Given the description of an element on the screen output the (x, y) to click on. 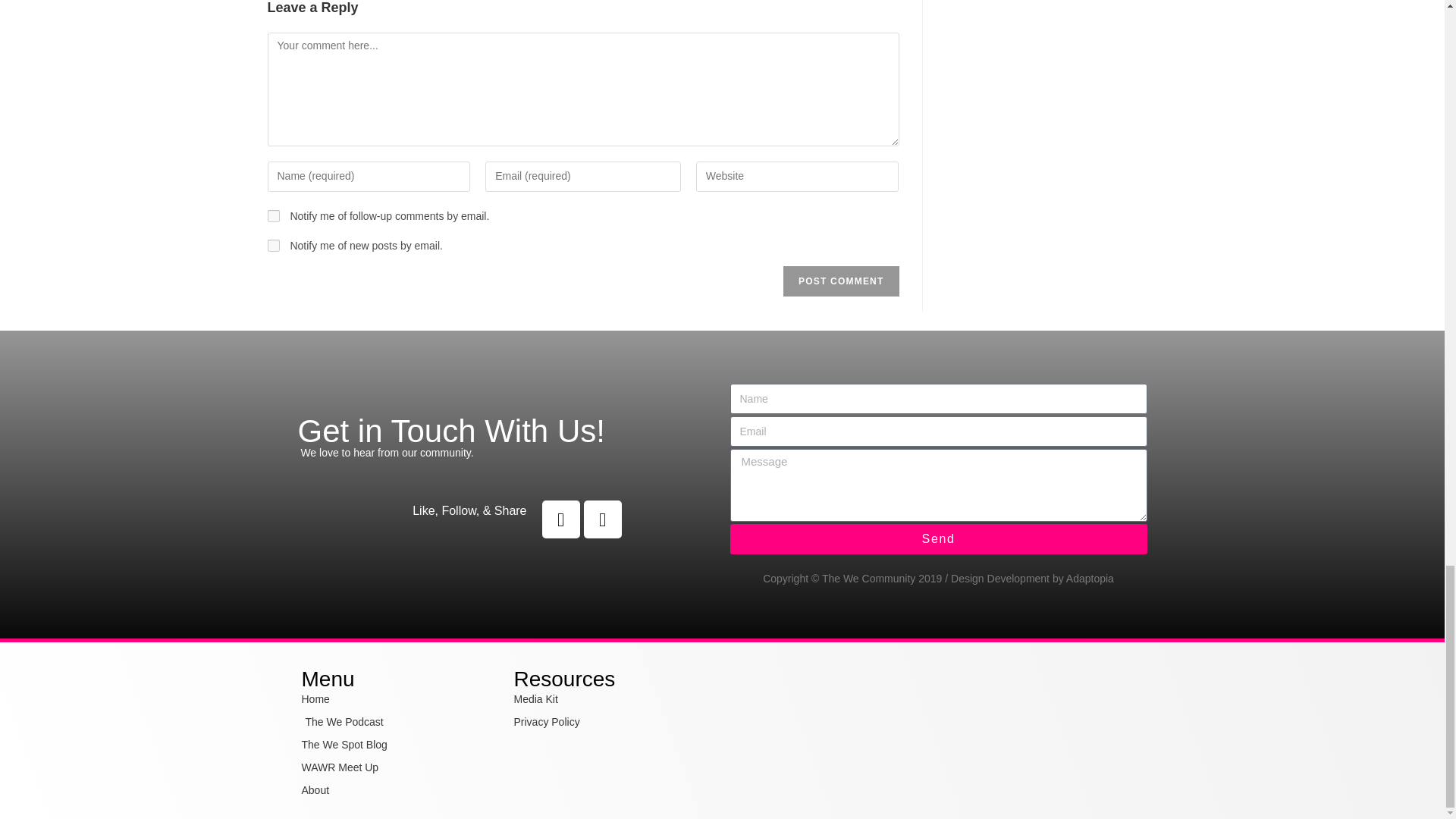
Post Comment (840, 281)
subscribe (272, 245)
subscribe (272, 215)
